Given the description of an element on the screen output the (x, y) to click on. 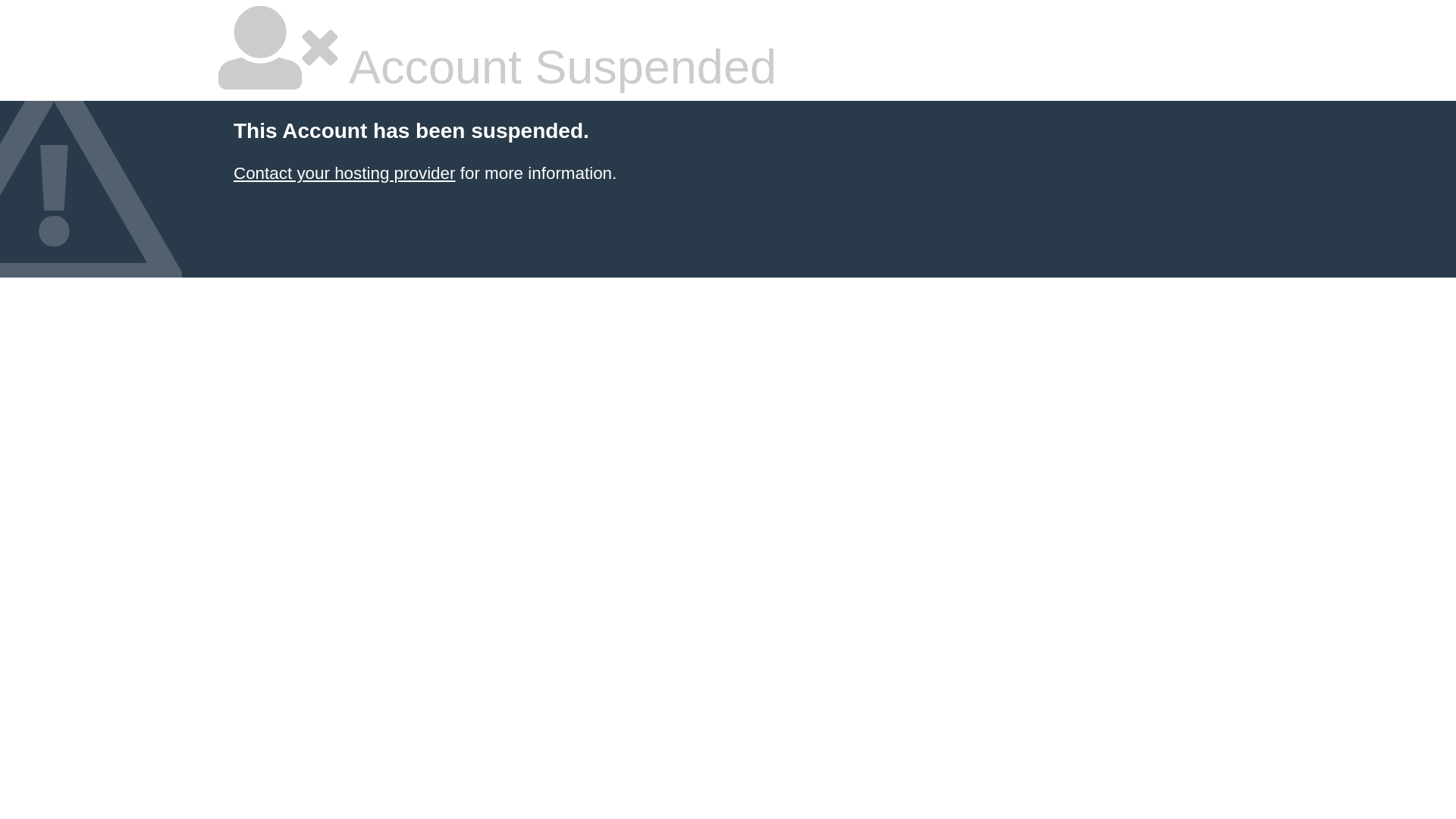
Contact your hosting provider Element type: text (344, 172)
